Given the description of an element on the screen output the (x, y) to click on. 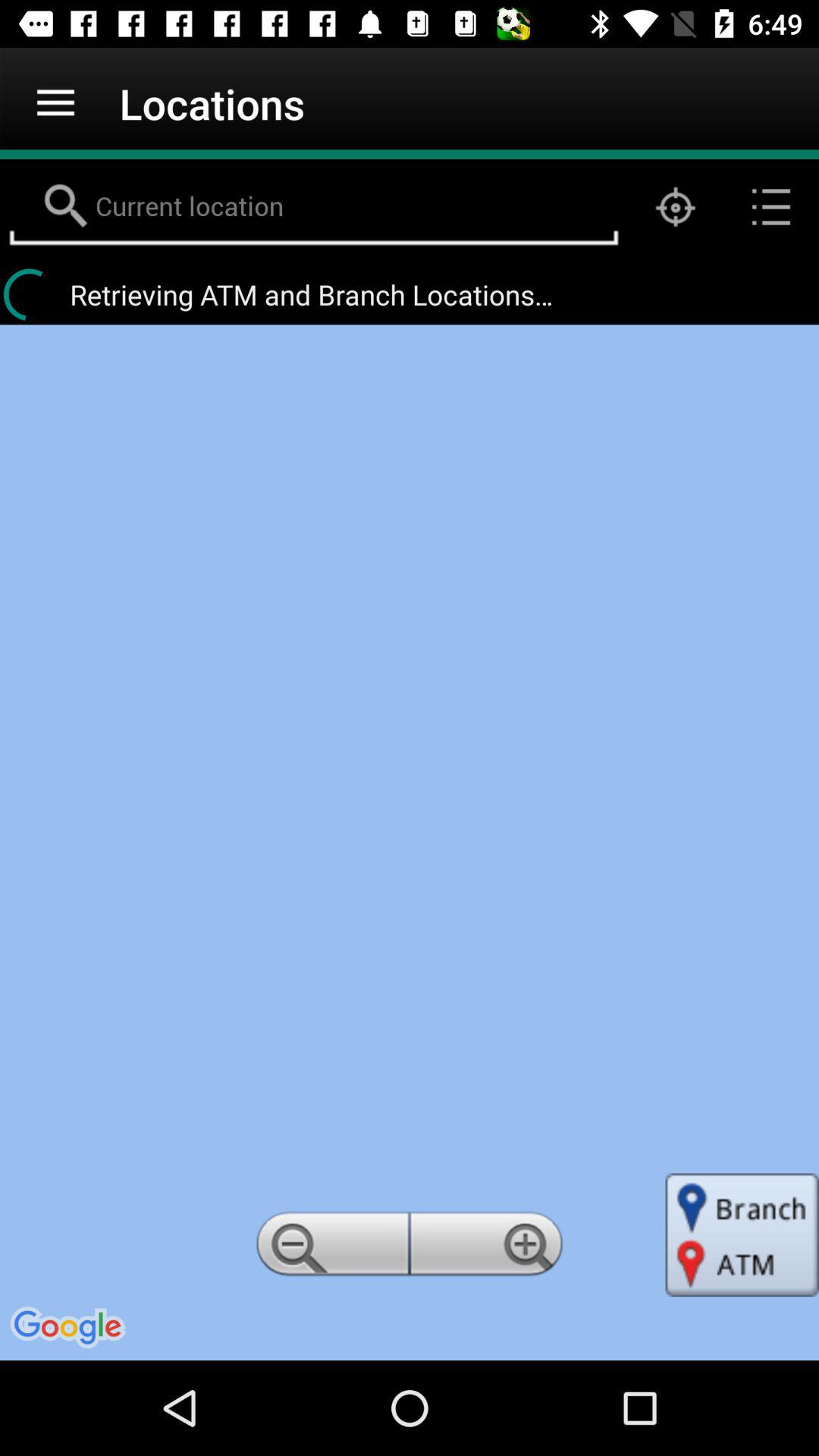
enter location (313, 206)
